Given the description of an element on the screen output the (x, y) to click on. 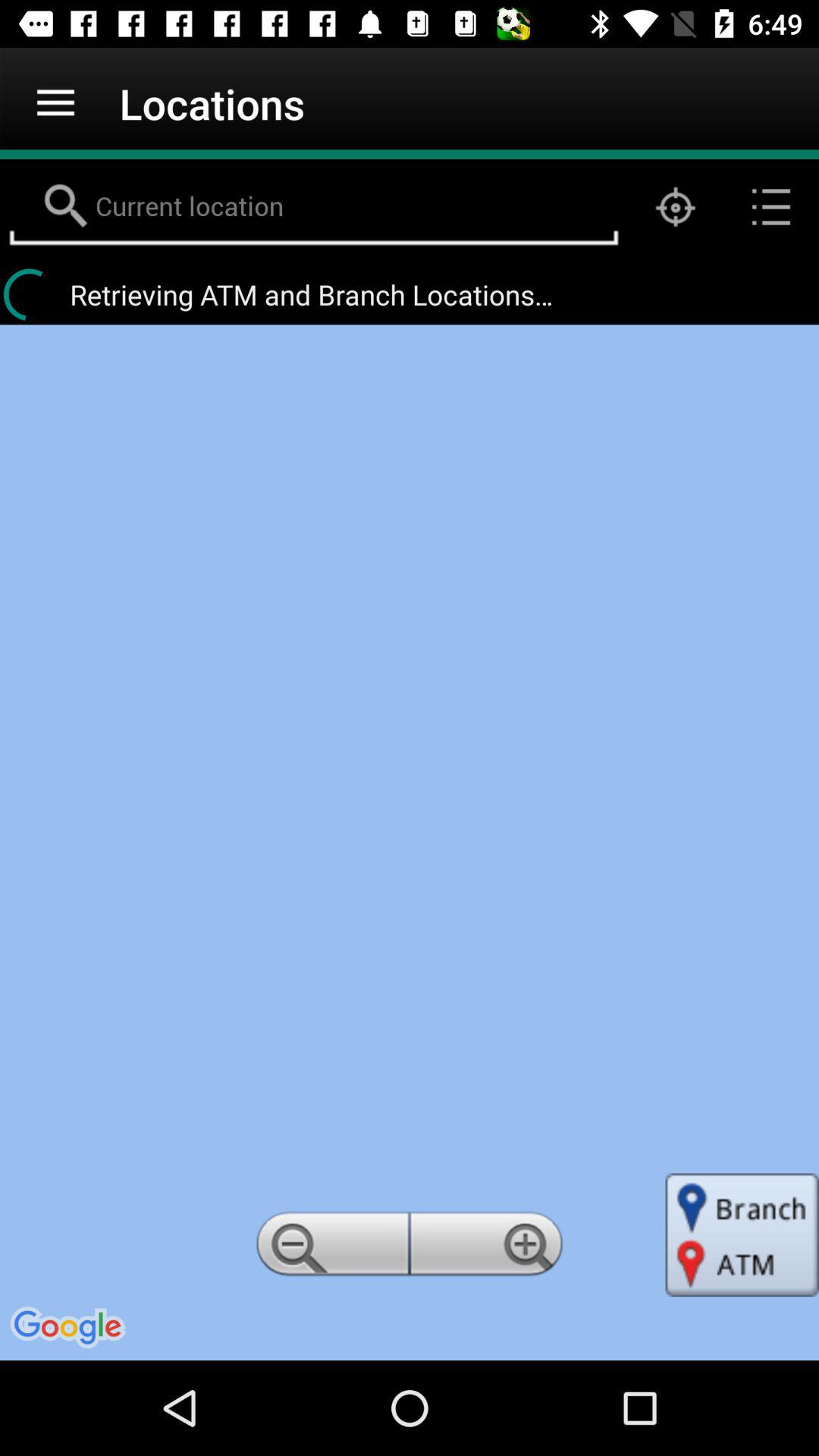
enter location (313, 206)
